Given the description of an element on the screen output the (x, y) to click on. 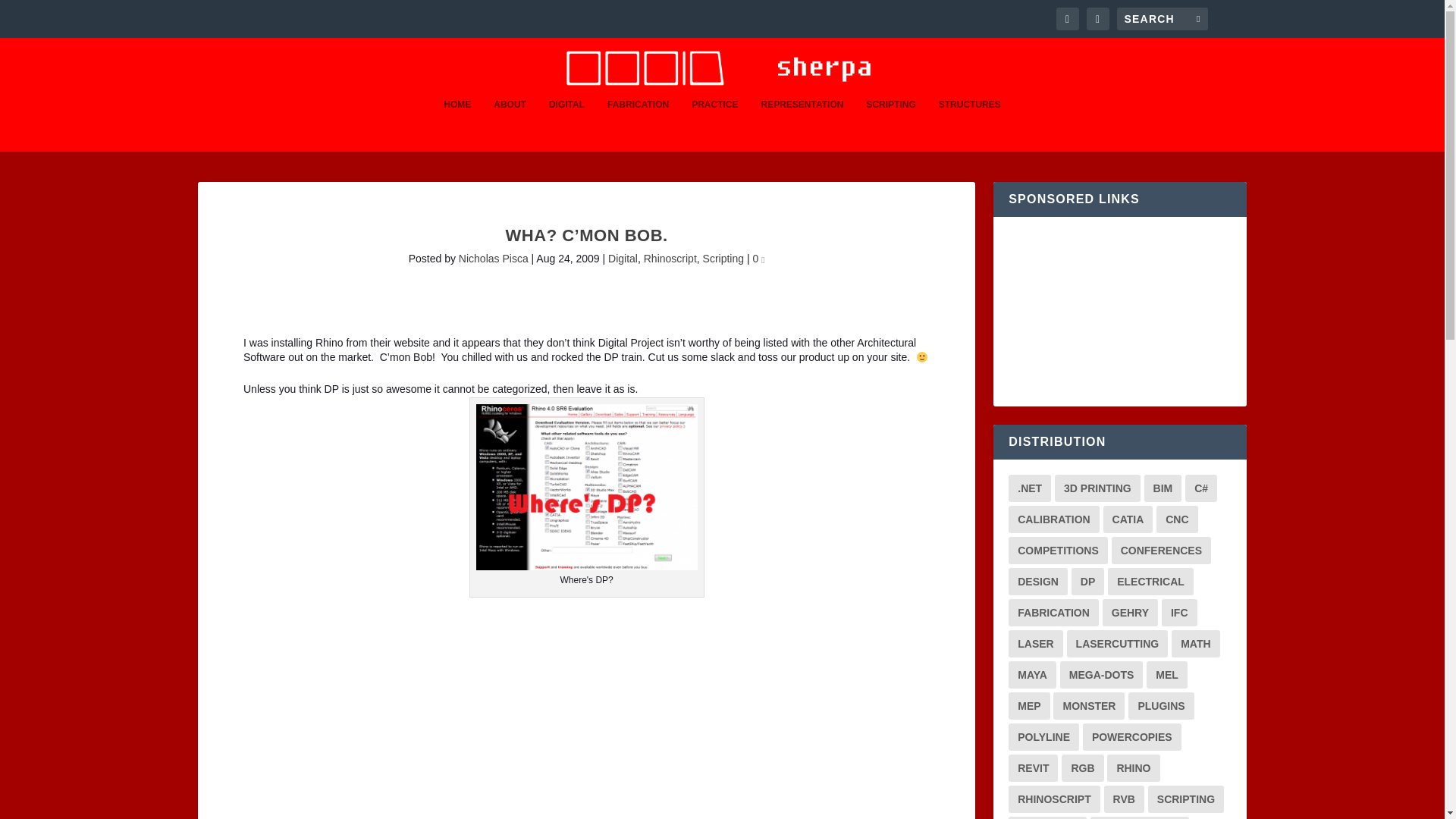
Search for: (1161, 18)
SCRIPTING (890, 124)
REPRESENTATION (801, 124)
Posts by Nicholas Pisca (493, 258)
FABRICATION (637, 124)
STRUCTURES (970, 124)
